Given the description of an element on the screen output the (x, y) to click on. 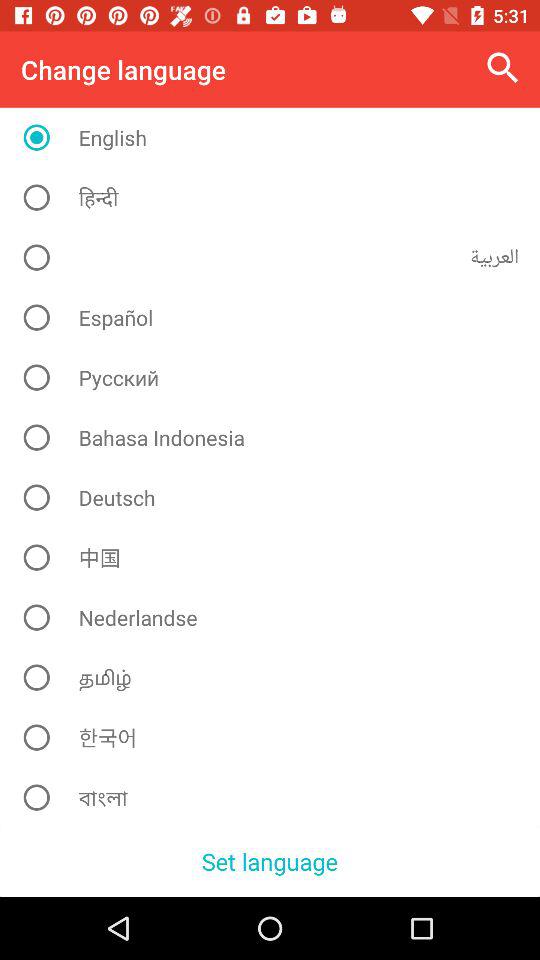
open the icon below nederlandse (277, 677)
